Given the description of an element on the screen output the (x, y) to click on. 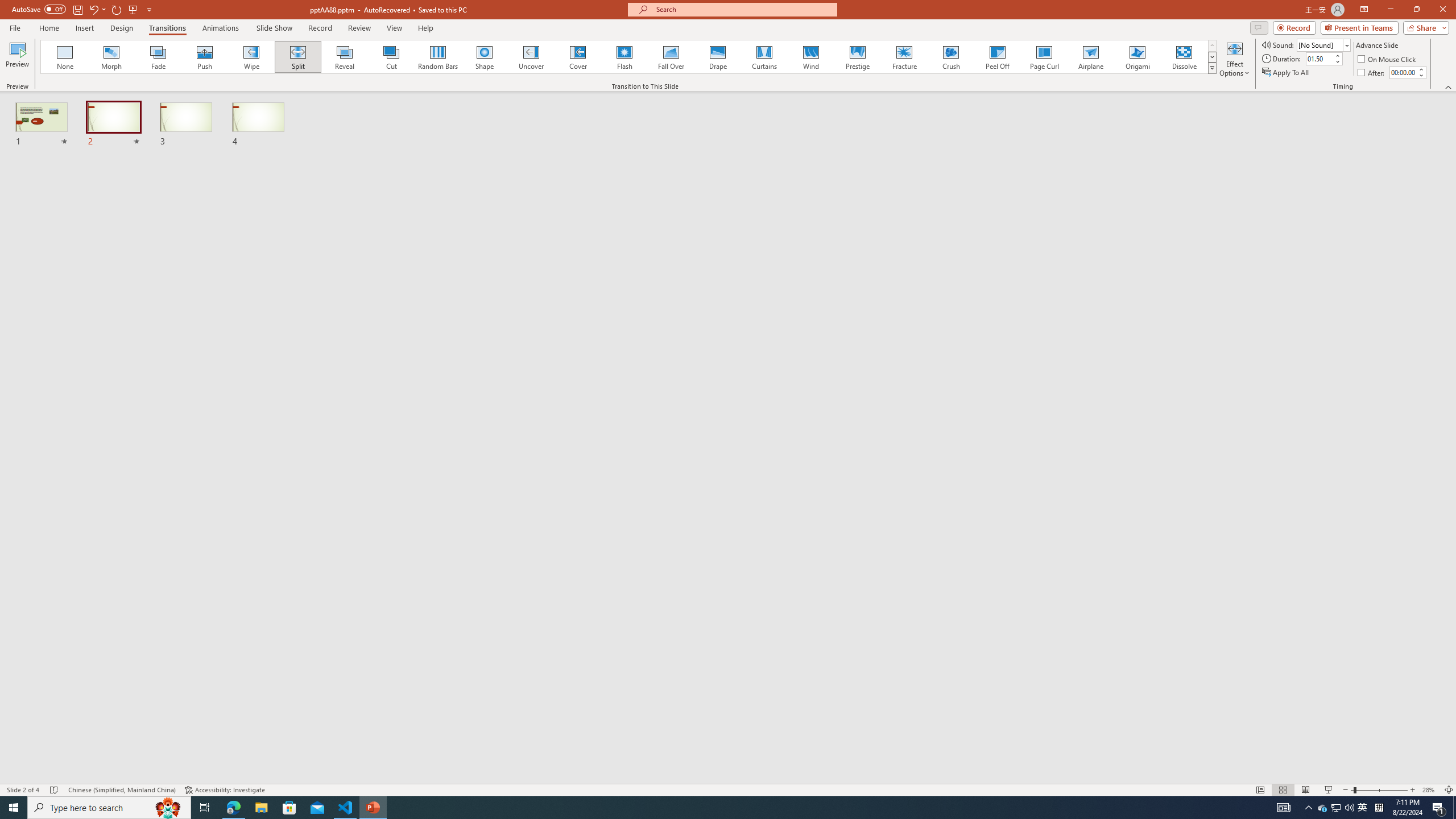
Fade (158, 56)
Uncover (531, 56)
Morph (111, 56)
Split (298, 56)
Fracture (903, 56)
Zoom 28% (1430, 790)
After (1403, 72)
Crush (950, 56)
